Given the description of an element on the screen output the (x, y) to click on. 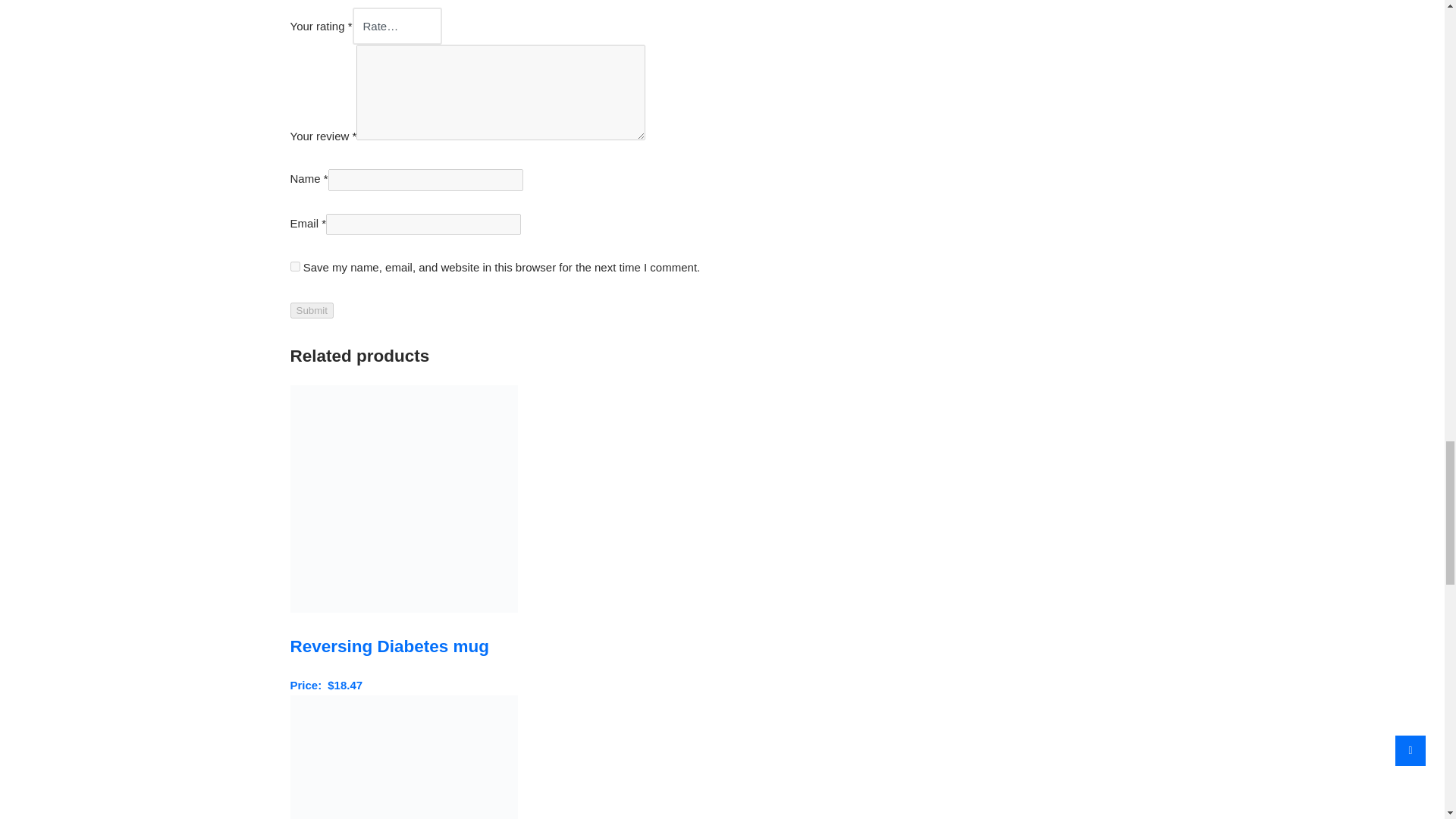
yes (294, 266)
Submit (311, 310)
